Given the description of an element on the screen output the (x, y) to click on. 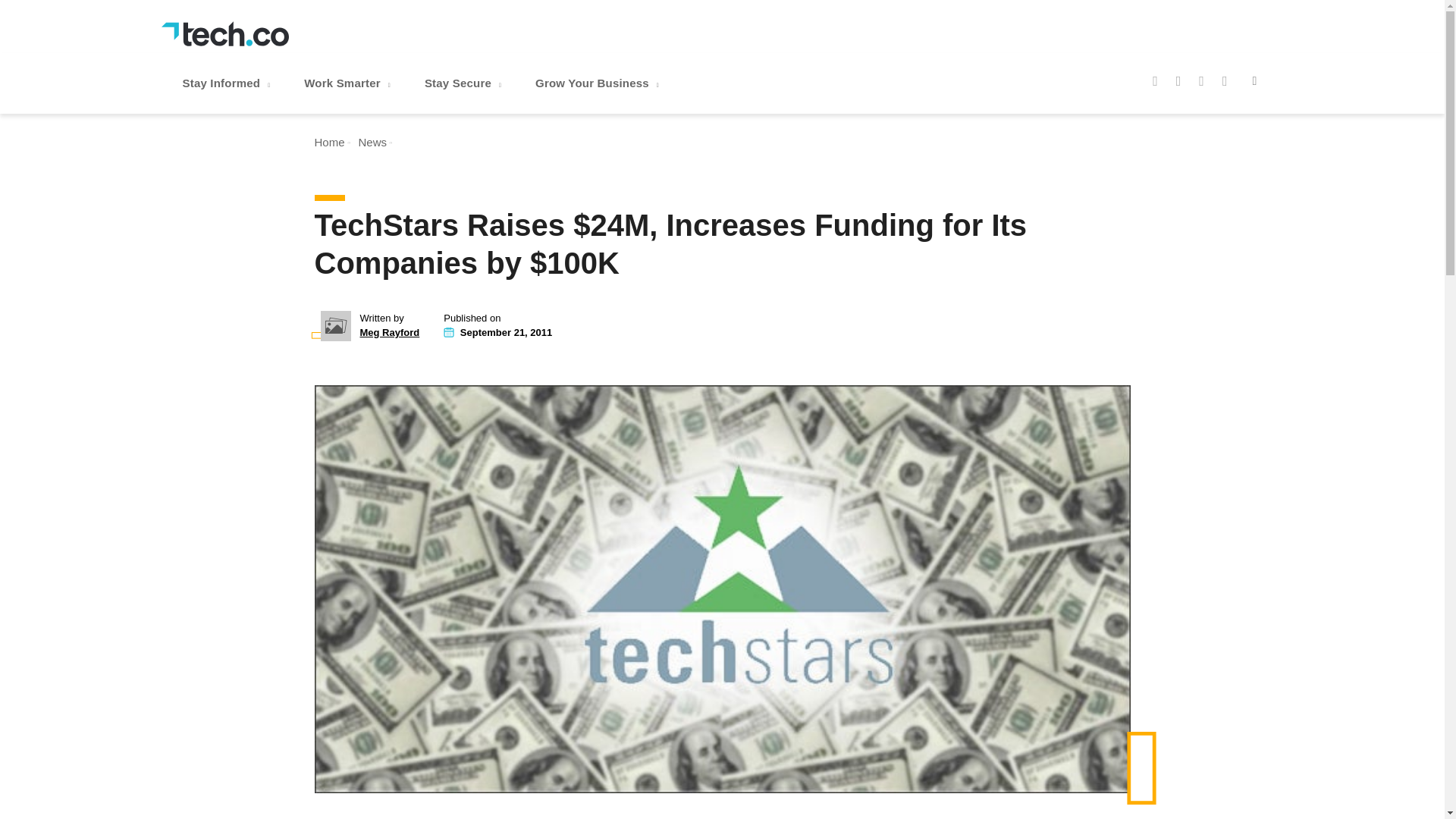
Work Smarter (348, 83)
Grow Your Business (598, 83)
Stay Informed (227, 83)
Stay Secure (464, 83)
